Given the description of an element on the screen output the (x, y) to click on. 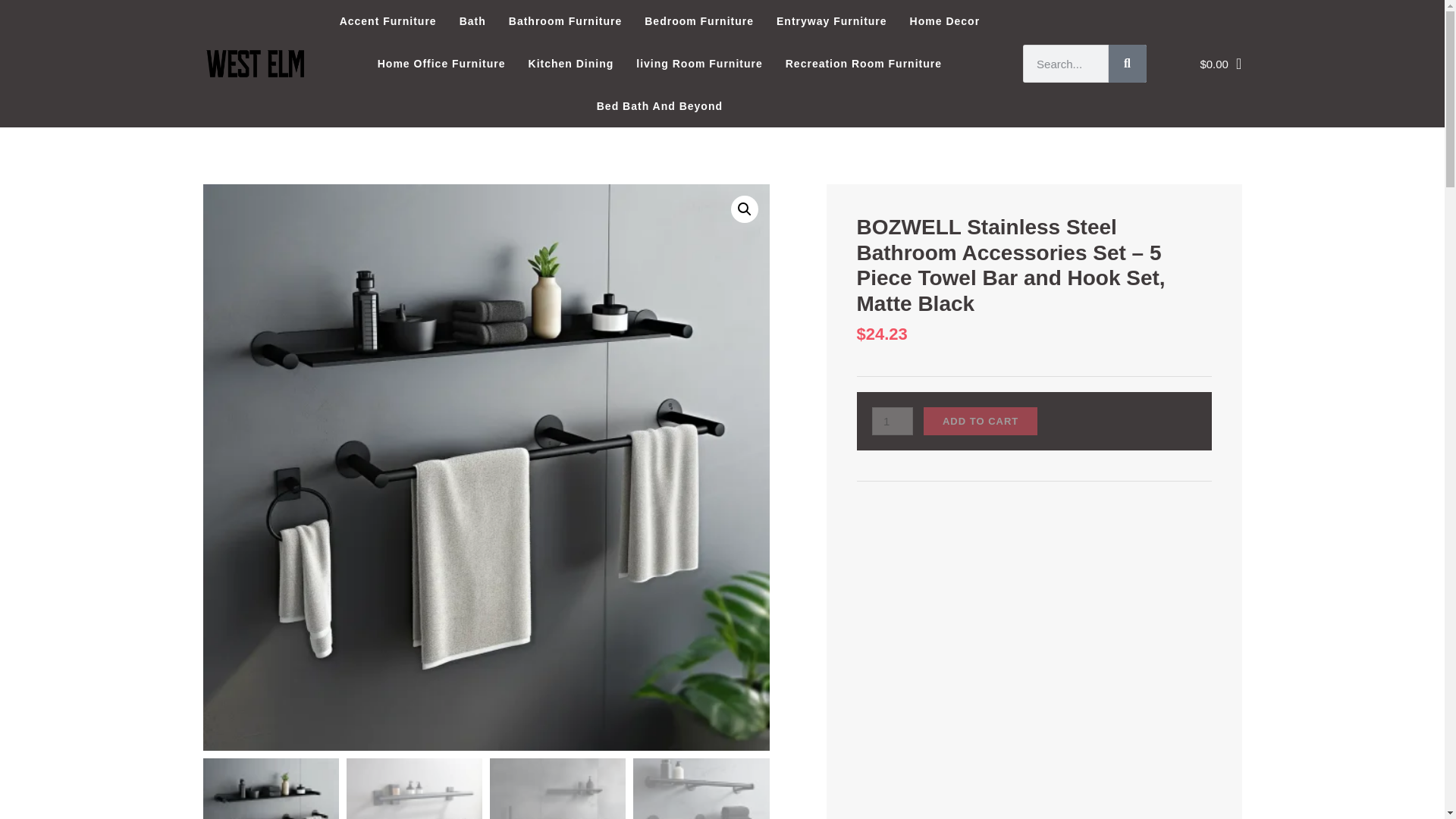
Bedroom Furniture (699, 21)
Bath (472, 21)
ADD TO CART (979, 420)
Accent Furniture (388, 21)
Recreation Room Furniture (863, 63)
Home Office Furniture (441, 63)
Home Decor (944, 21)
living Room Furniture (698, 63)
Entryway Furniture (831, 21)
Bathroom Furniture (565, 21)
